Given the description of an element on the screen output the (x, y) to click on. 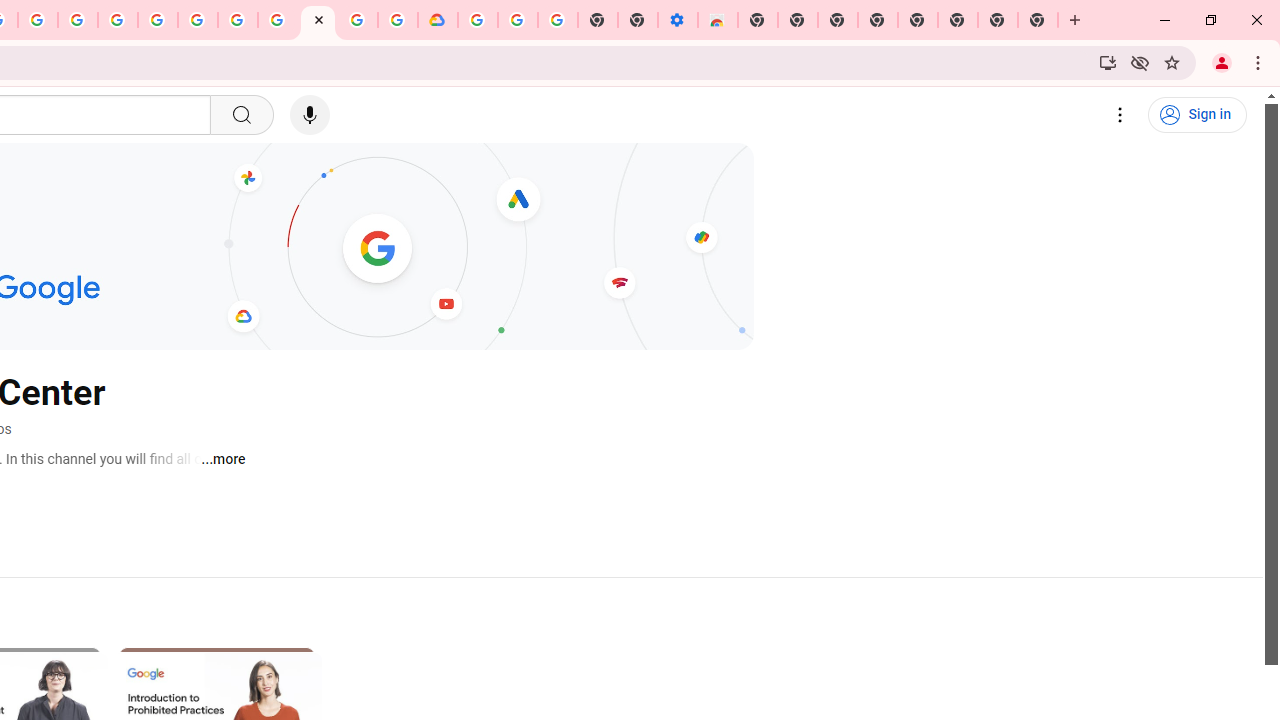
Search (240, 115)
